Given the description of an element on the screen output the (x, y) to click on. 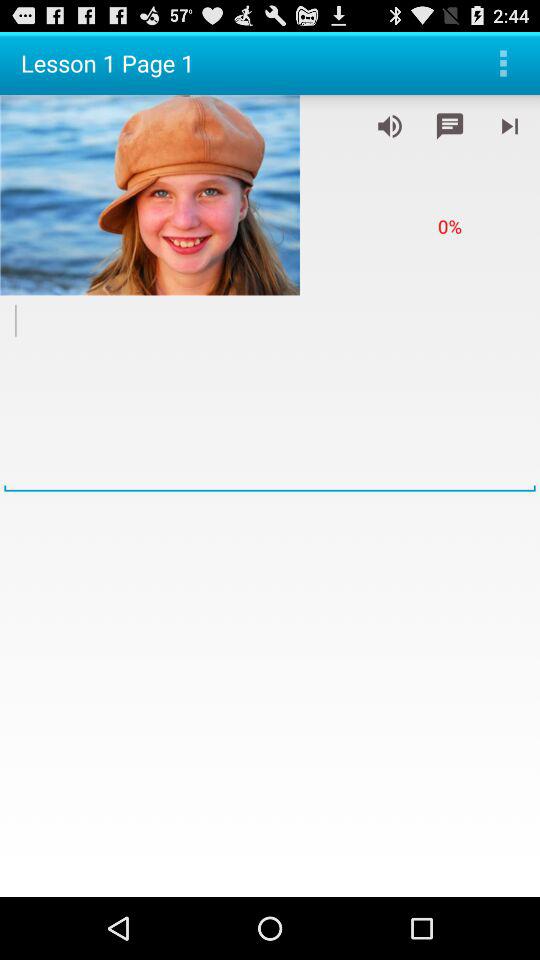
comment on video (450, 125)
